Given the description of an element on the screen output the (x, y) to click on. 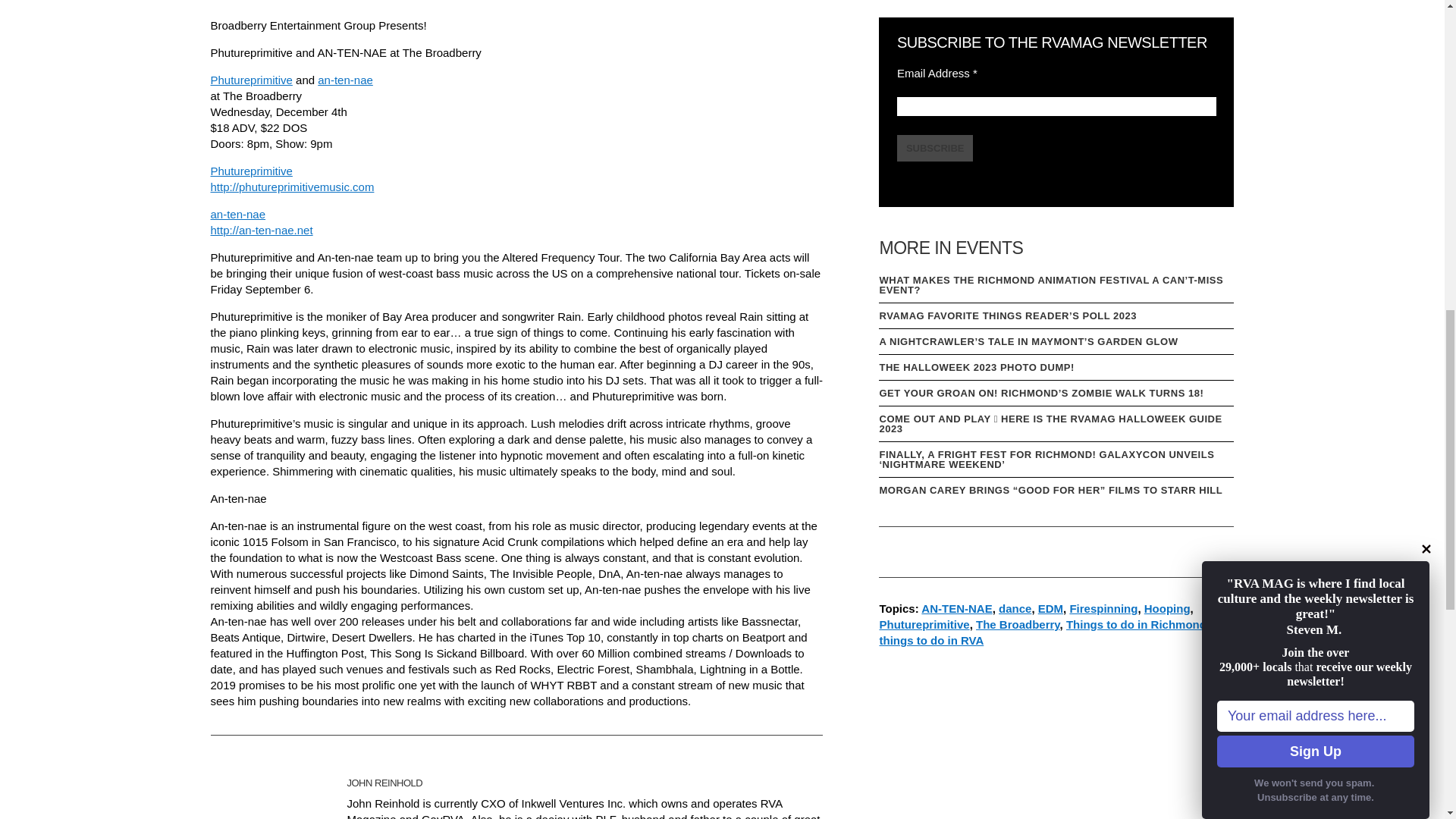
Subscribe (935, 148)
